Given the description of an element on the screen output the (x, y) to click on. 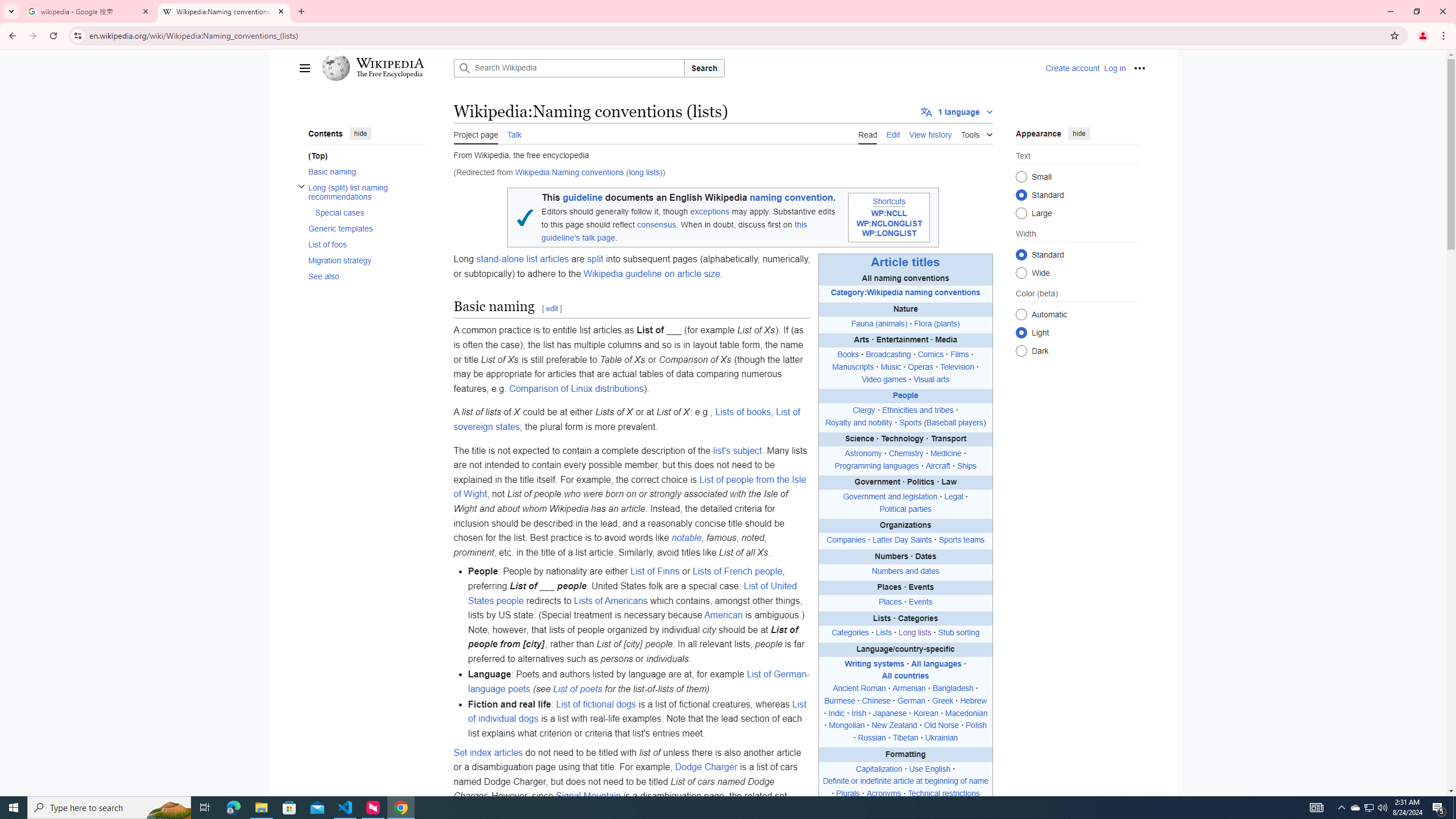
Toggle Long (split) list naming recommendations subsection (300, 185)
AutomationID: toc-Long_(split)_list_naming_recommendations (365, 199)
Sports (910, 422)
Ancient Roman (859, 688)
Log in (1114, 67)
AutomationID: ca-nstab-project (475, 133)
AutomationID: ca-history (930, 133)
Greek (942, 700)
AutomationID: toc-Migration_strategy (365, 260)
Special cases (372, 211)
All countries (904, 675)
hide (1078, 133)
Acronyms (883, 793)
List of people from the Isle of Wight (629, 486)
